Given the description of an element on the screen output the (x, y) to click on. 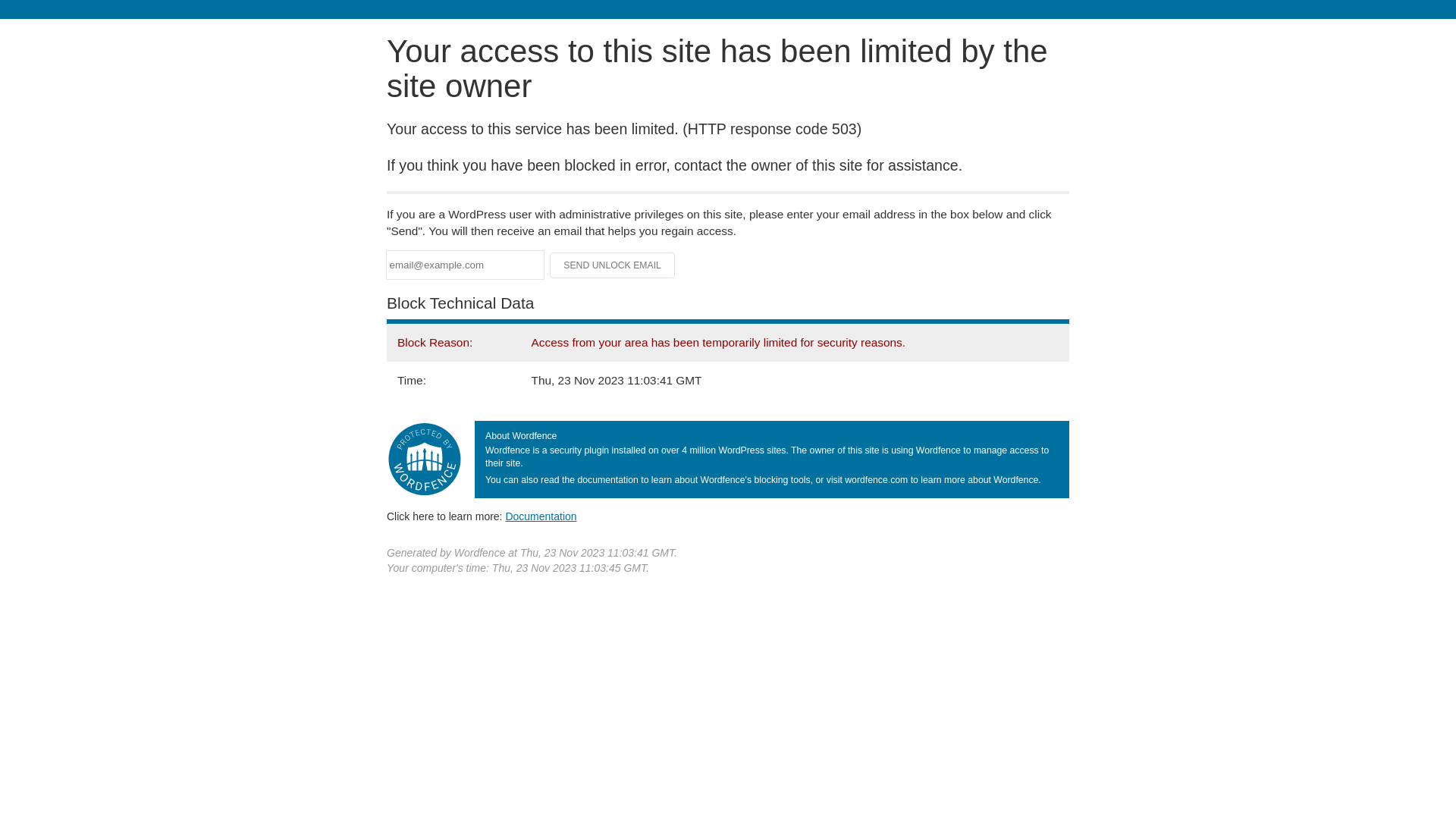
Send Unlock Email Element type: text (612, 265)
Documentation Element type: text (540, 516)
